Given the description of an element on the screen output the (x, y) to click on. 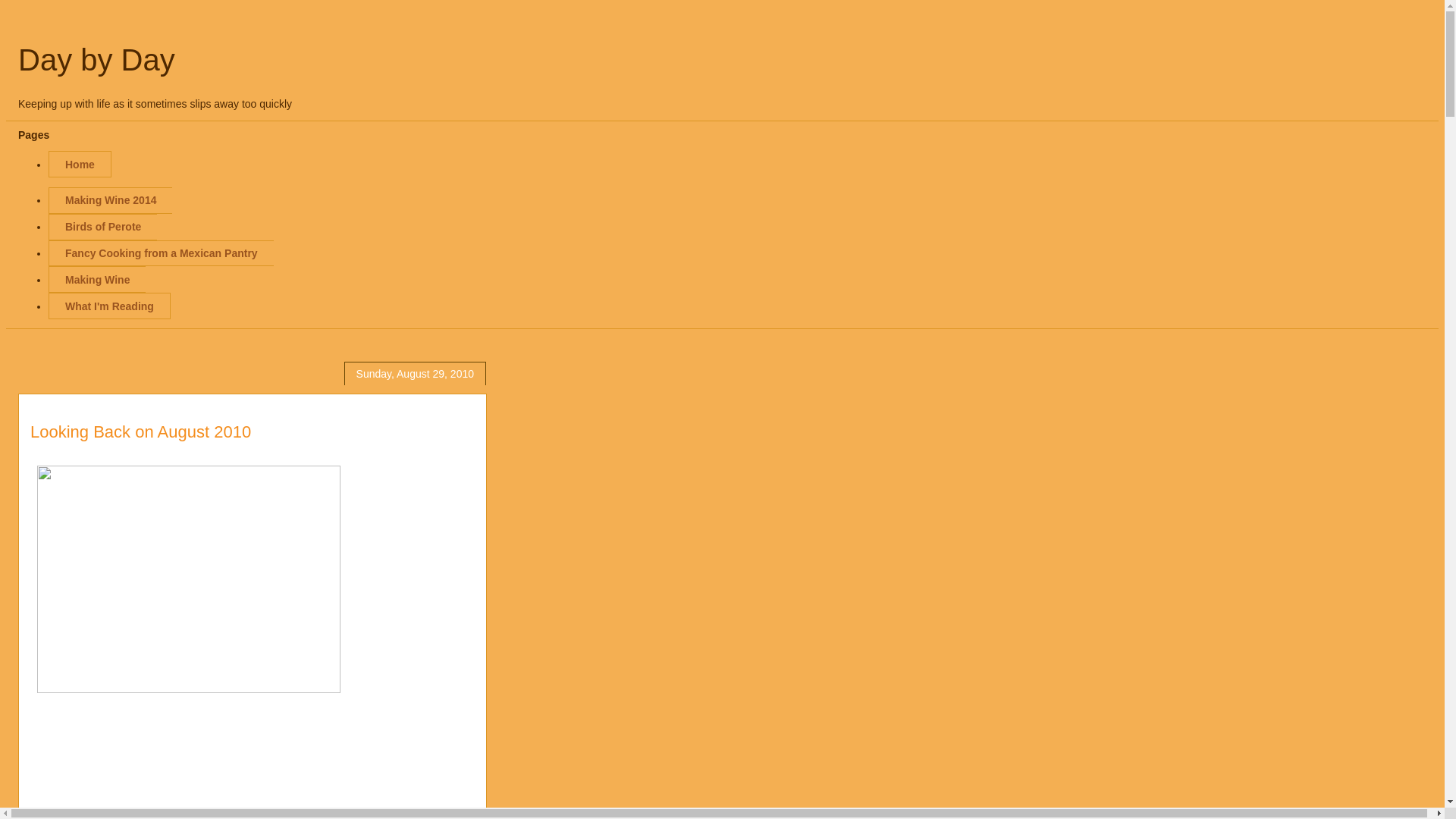
Making Wine 2014 (109, 200)
Day by Day (95, 59)
Birds of Perote (102, 226)
What I'm Reading (109, 305)
Home (80, 163)
Fancy Cooking from a Mexican Pantry (160, 253)
Making Wine (96, 279)
